Given the description of an element on the screen output the (x, y) to click on. 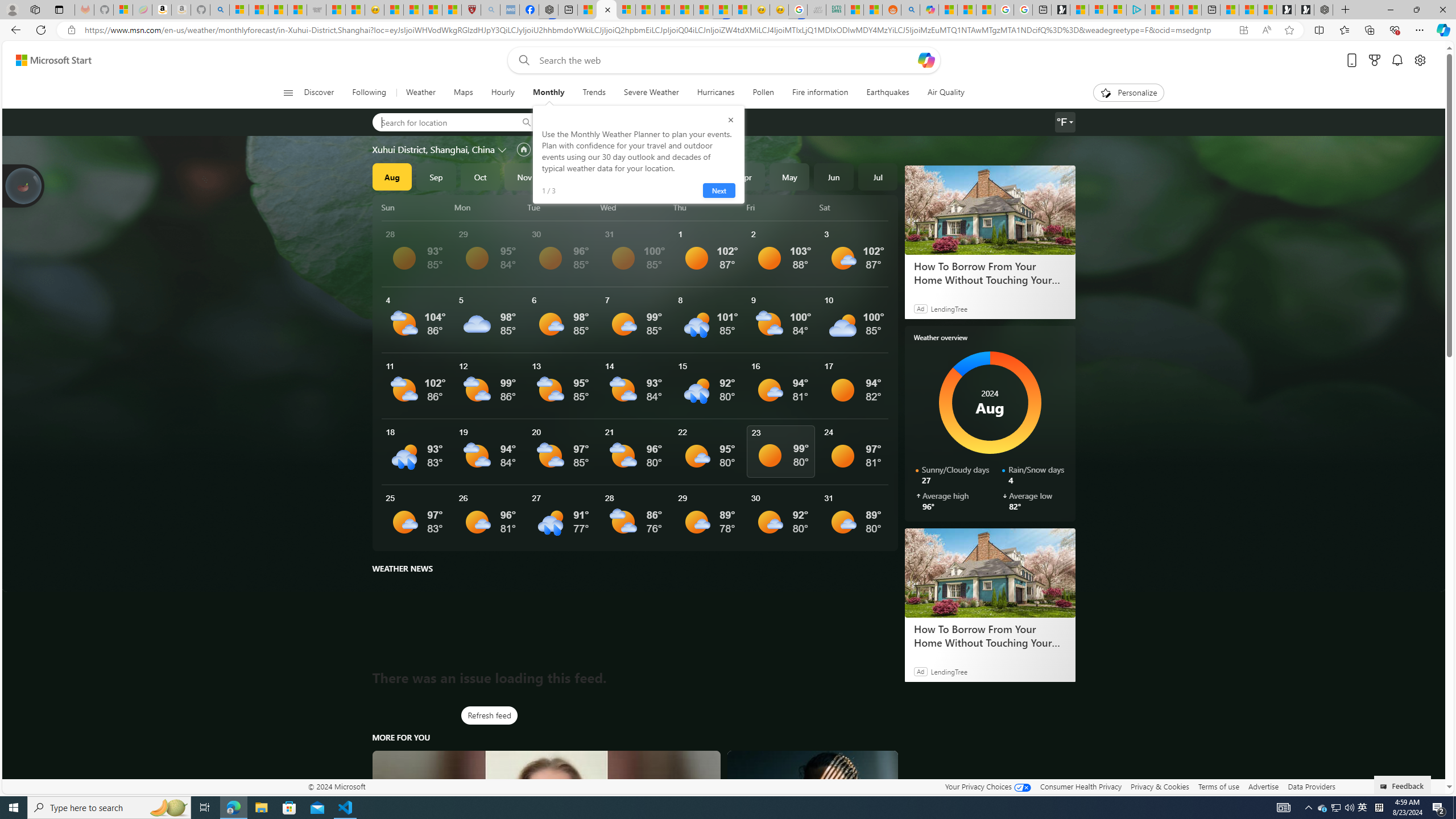
Earthquakes (887, 92)
May (789, 176)
